Given the description of an element on the screen output the (x, y) to click on. 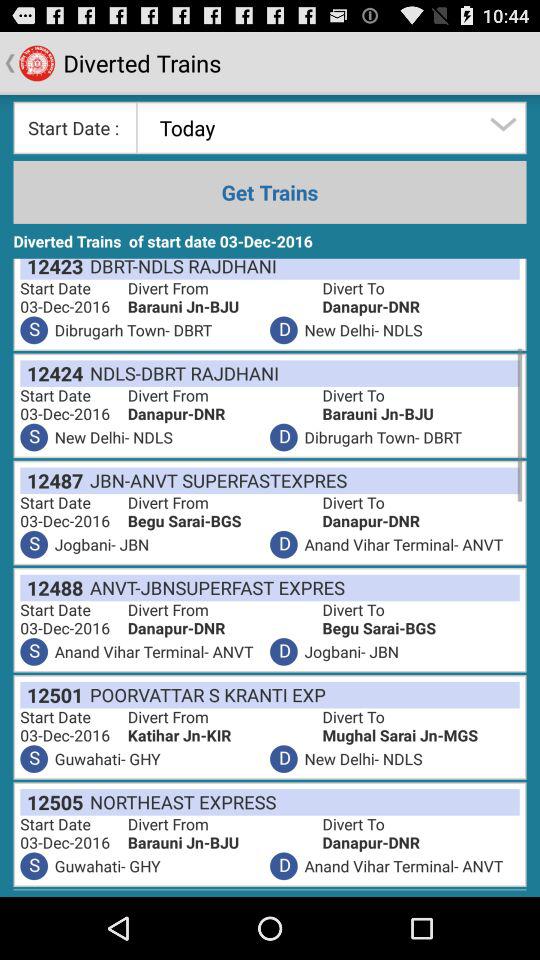
click the anvt-jbnsuperfast expres (214, 587)
